Given the description of an element on the screen output the (x, y) to click on. 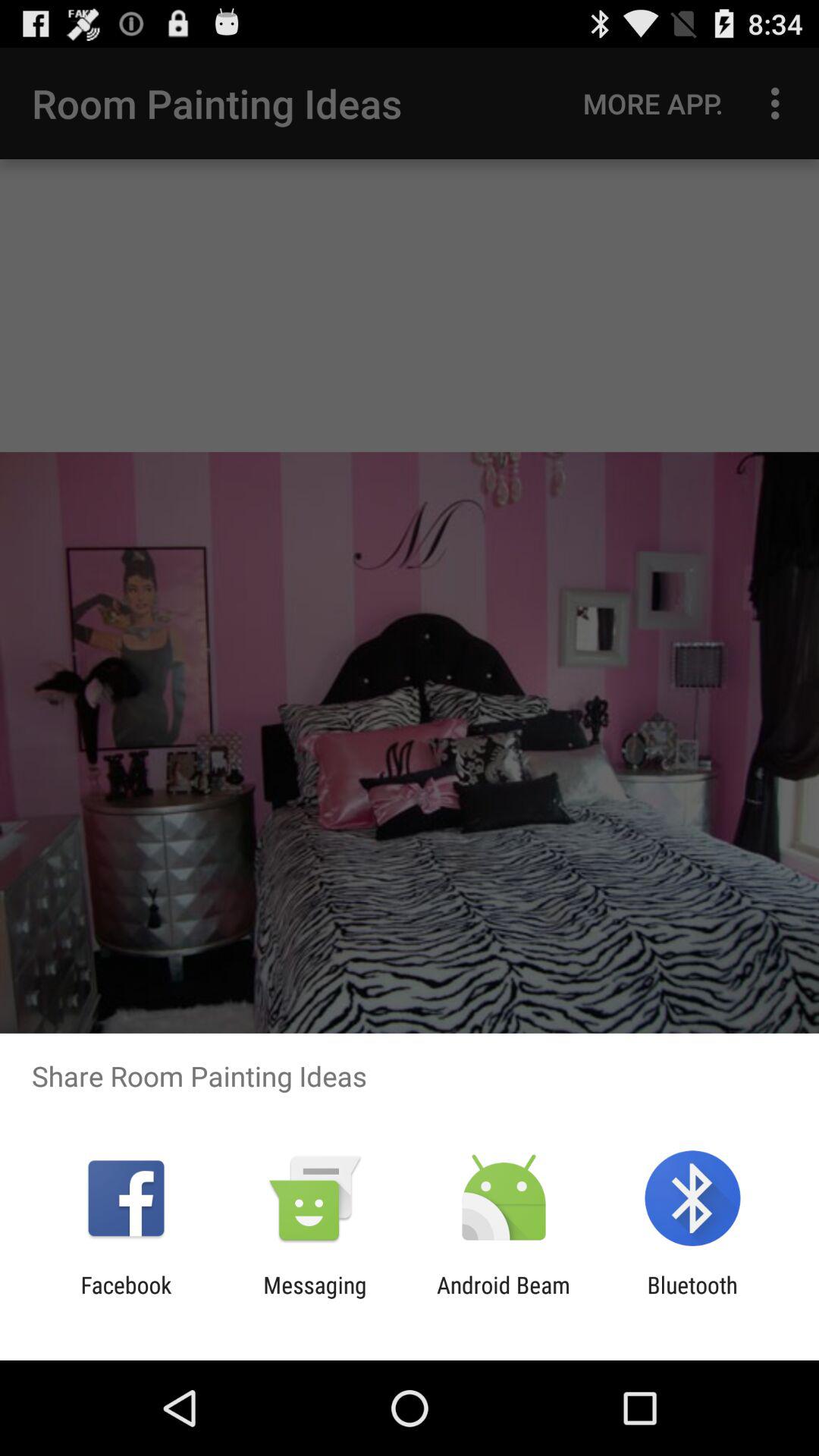
click item to the right of the messaging icon (503, 1298)
